Given the description of an element on the screen output the (x, y) to click on. 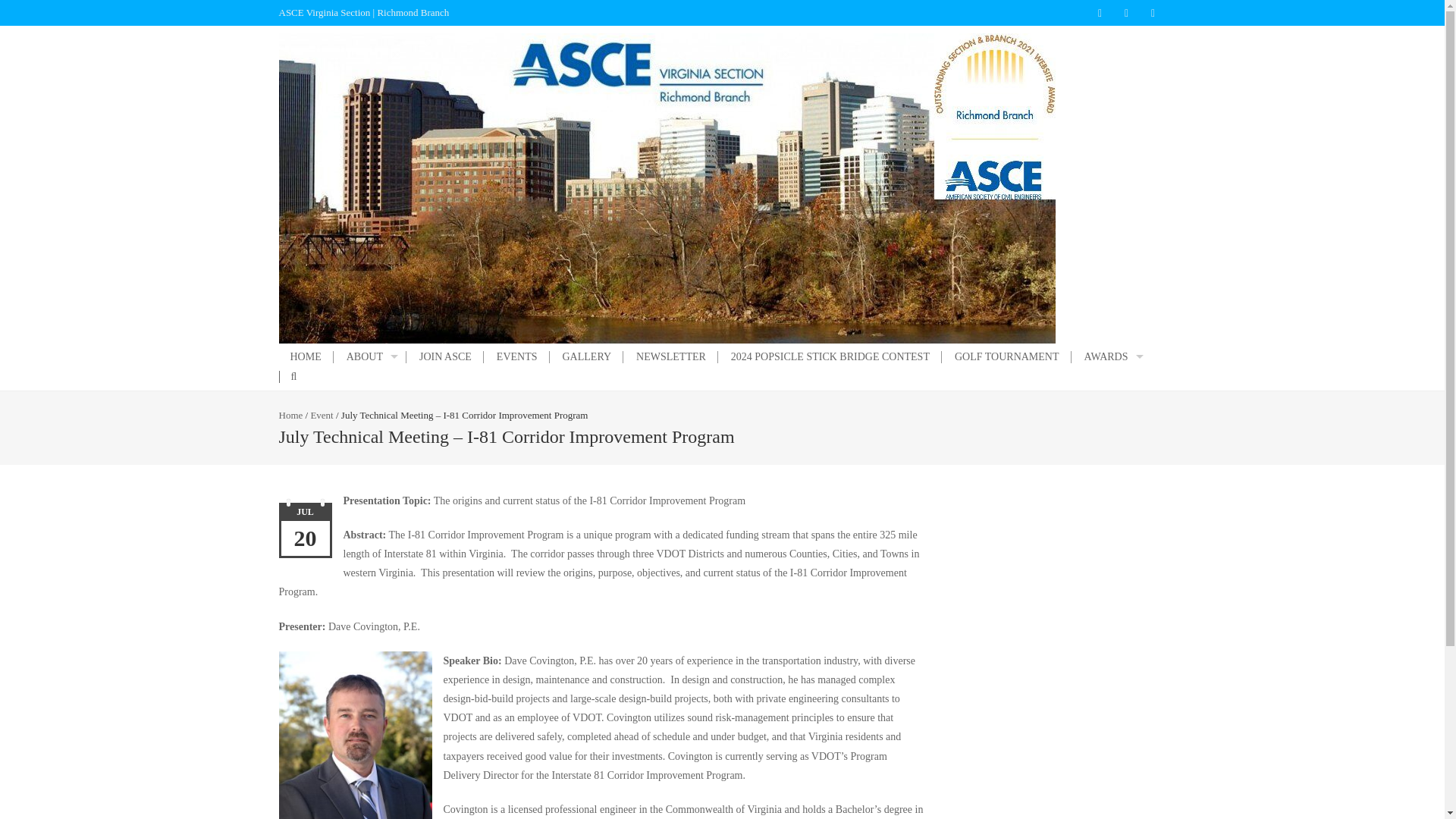
GOLF TOURNAMENT (1007, 357)
AWARDS (1112, 357)
Home (290, 414)
NEWSLETTER (670, 357)
GALLERY (586, 357)
ABOUT (370, 357)
HOME (306, 357)
Event (321, 414)
EVENTS (517, 357)
JOIN ASCE (445, 357)
2024 POPSICLE STICK BRIDGE CONTEST (830, 357)
